Given the description of an element on the screen output the (x, y) to click on. 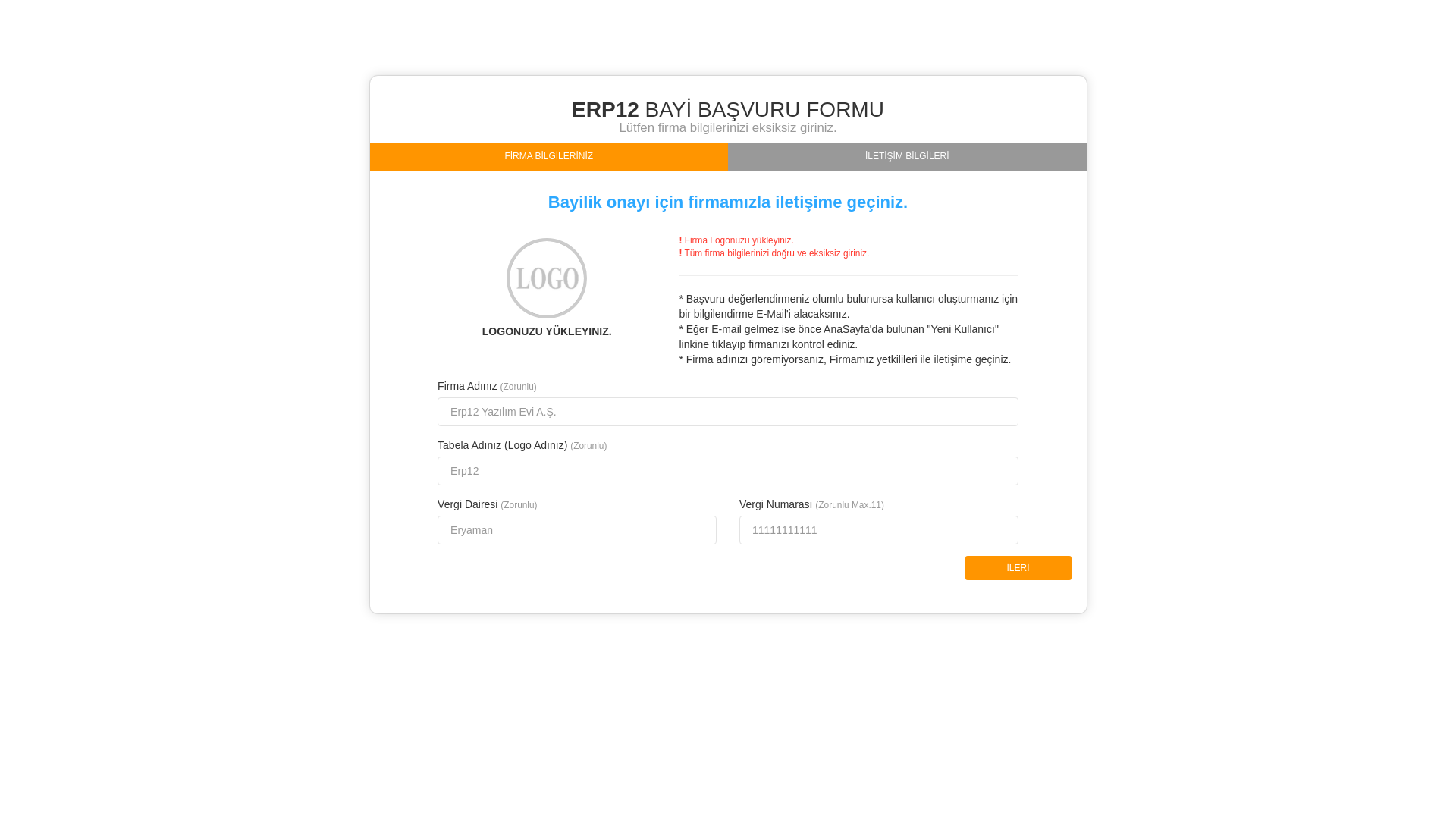
KAYDET Element type: text (53, 12)
